Given the description of an element on the screen output the (x, y) to click on. 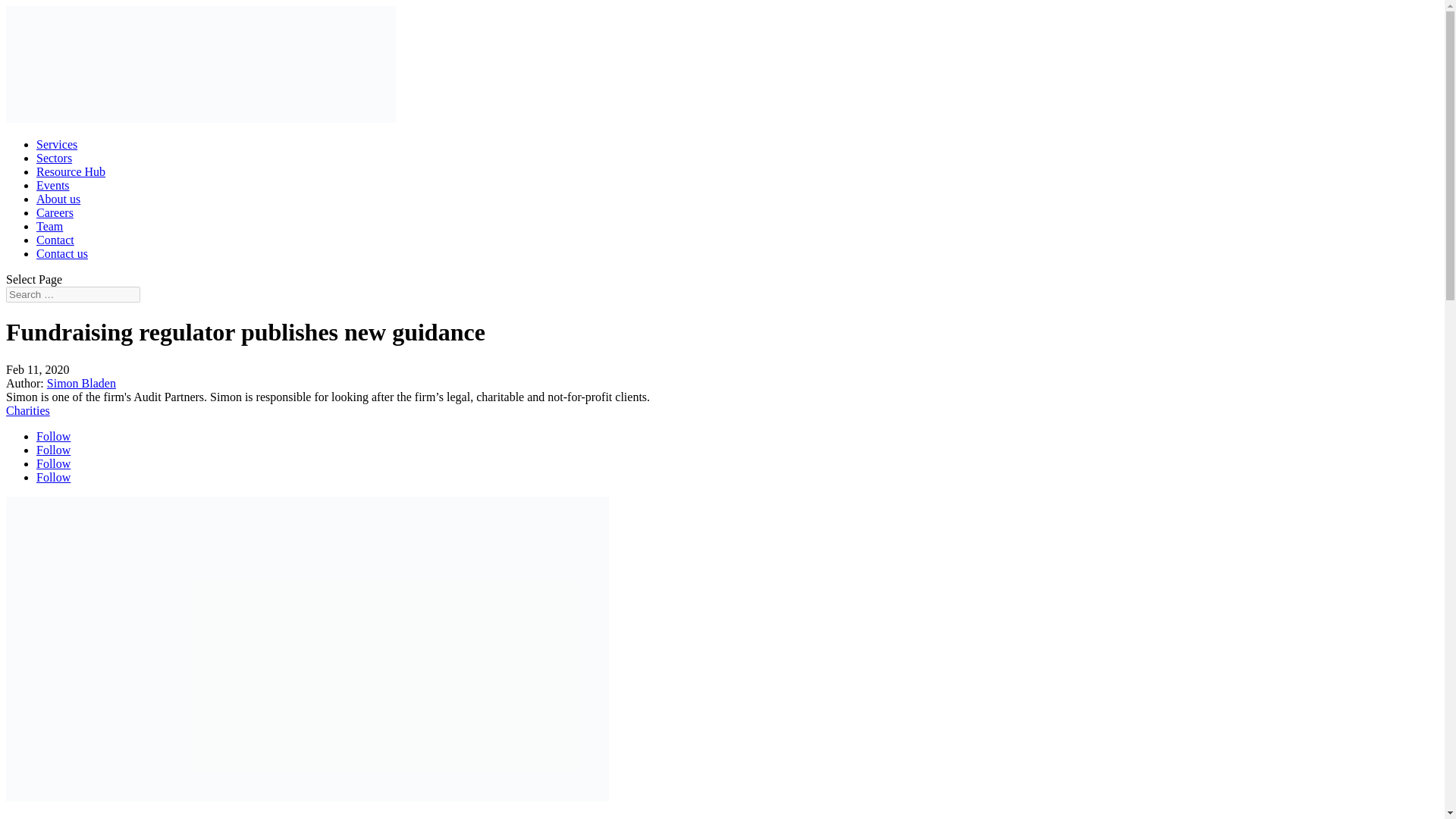
Careers (55, 212)
Team (49, 226)
Follow on Facebook (52, 436)
Services (56, 144)
Contact (55, 239)
Search for: (72, 294)
Sectors (53, 157)
Follow on LinkedIn (52, 463)
Events (52, 185)
Follow (52, 436)
